Given the description of an element on the screen output the (x, y) to click on. 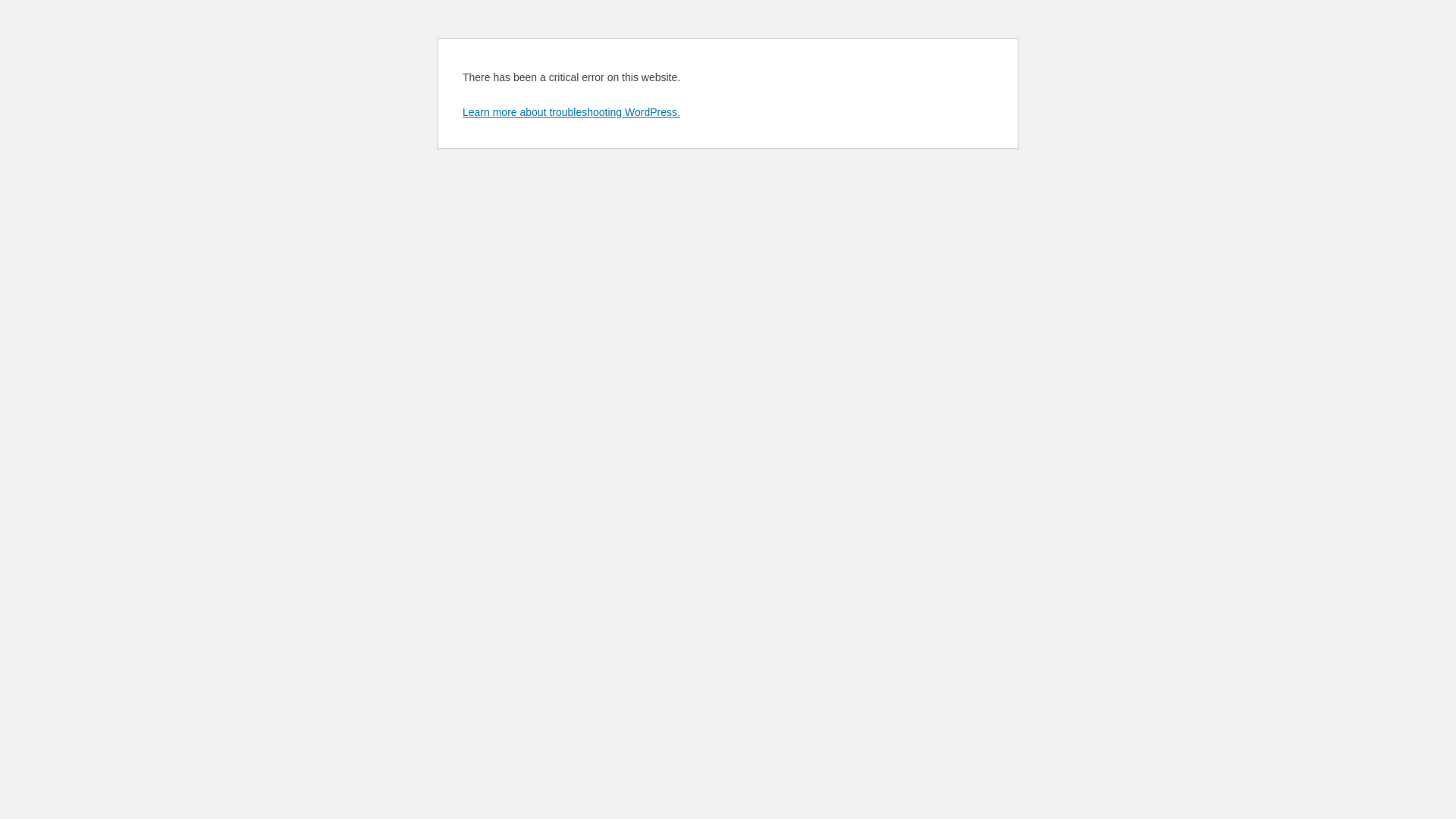
Learn more about troubleshooting WordPress. Element type: text (571, 112)
